Given the description of an element on the screen output the (x, y) to click on. 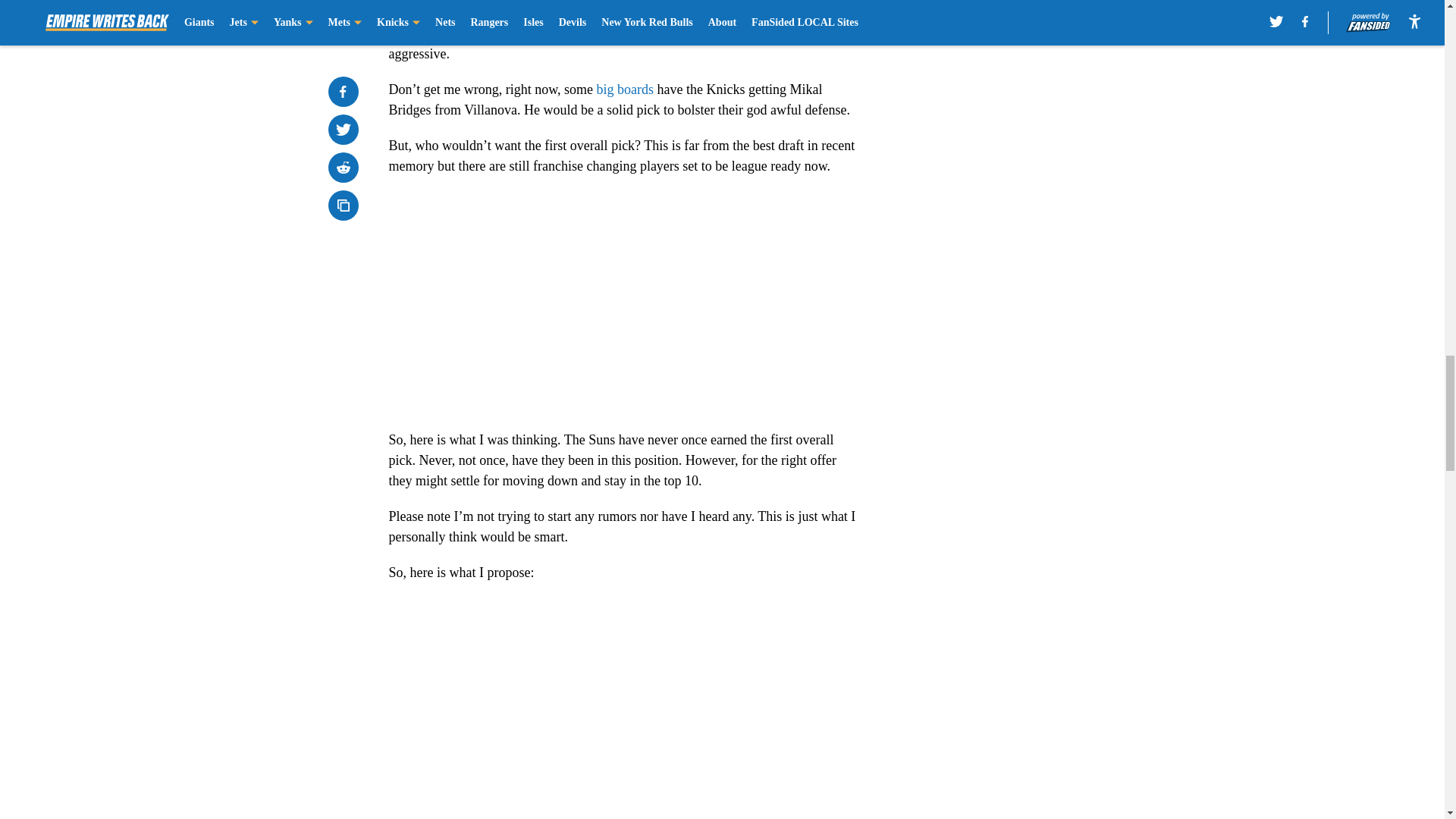
big boards (624, 89)
